Given the description of an element on the screen output the (x, y) to click on. 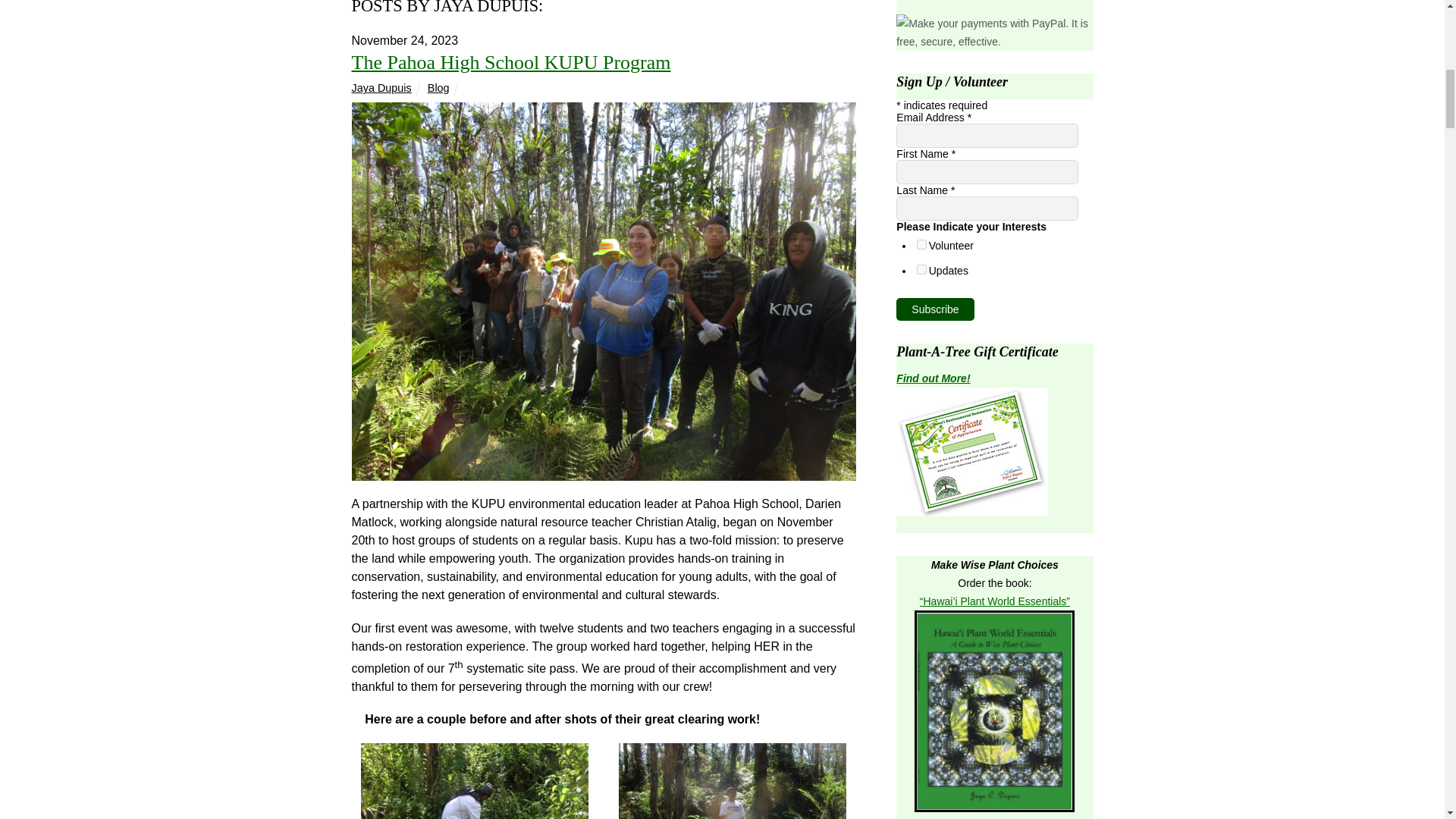
A - BEFORE  (474, 751)
1B. After (731, 780)
The Pahoa High School KUPU Program (511, 62)
Jaya Dupuis (382, 87)
2 (921, 269)
1 (921, 244)
A - AFTER (731, 751)
Subscribe (935, 309)
Blog (438, 87)
